Given the description of an element on the screen output the (x, y) to click on. 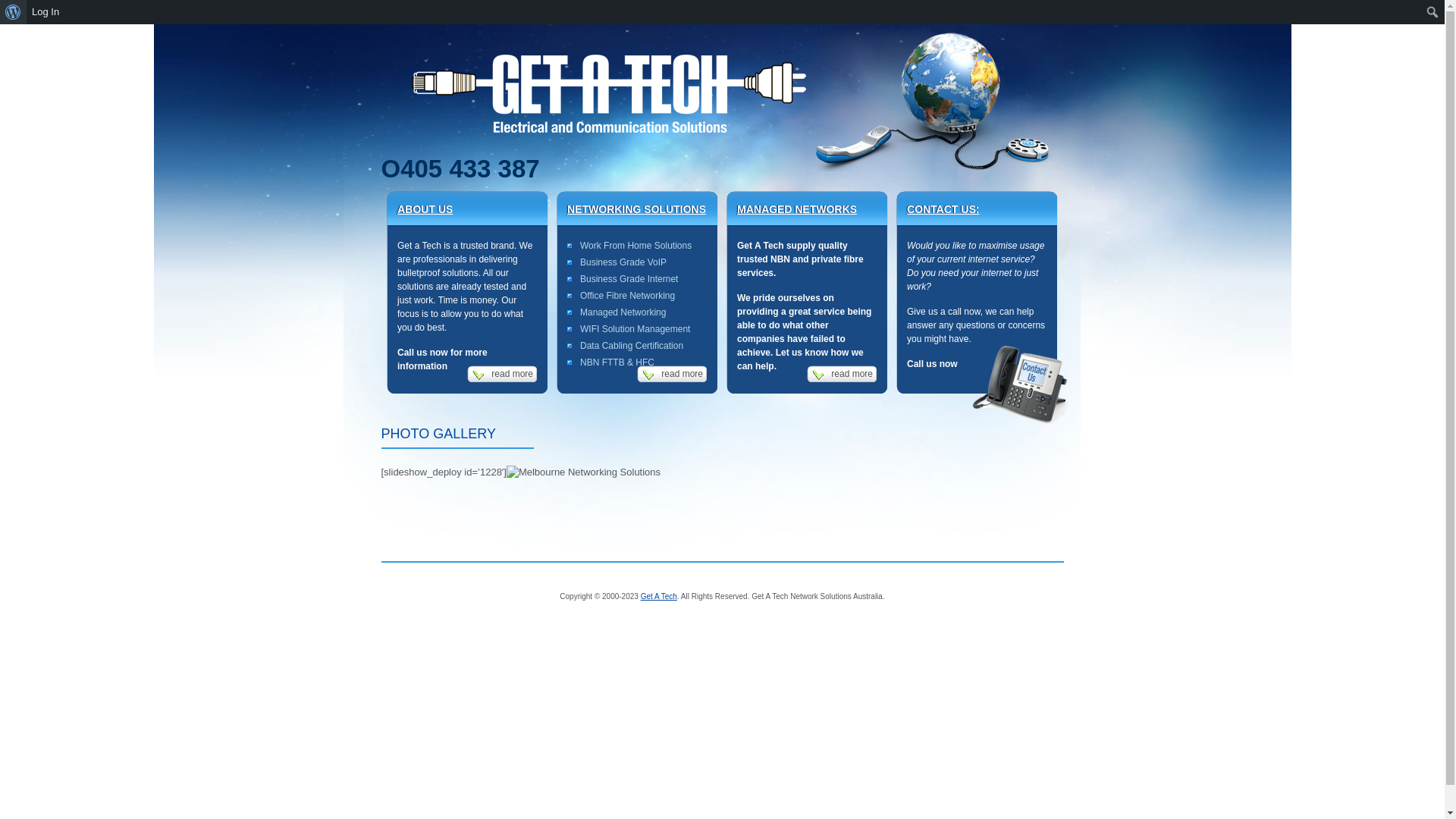
read more Element type: text (841, 373)
ABOUT US Element type: text (424, 209)
Log In Element type: text (45, 12)
NETWORKING SOLUTIONS Element type: text (636, 209)
PHOTO GALLERY Element type: text (456, 437)
read more Element type: text (671, 373)
read more Element type: text (501, 373)
Get A Tech Element type: text (658, 596)
Get A Tech Phone Cabling & ADSL-Data-MDF Cabling Melbourne  Element type: hover (583, 472)
Search Element type: text (16, 12)
Contact Us Element type: text (1020, 384)
MANAGED NETWORKS Element type: text (796, 209)
CONTACT US: Element type: text (942, 209)
